Given the description of an element on the screen output the (x, y) to click on. 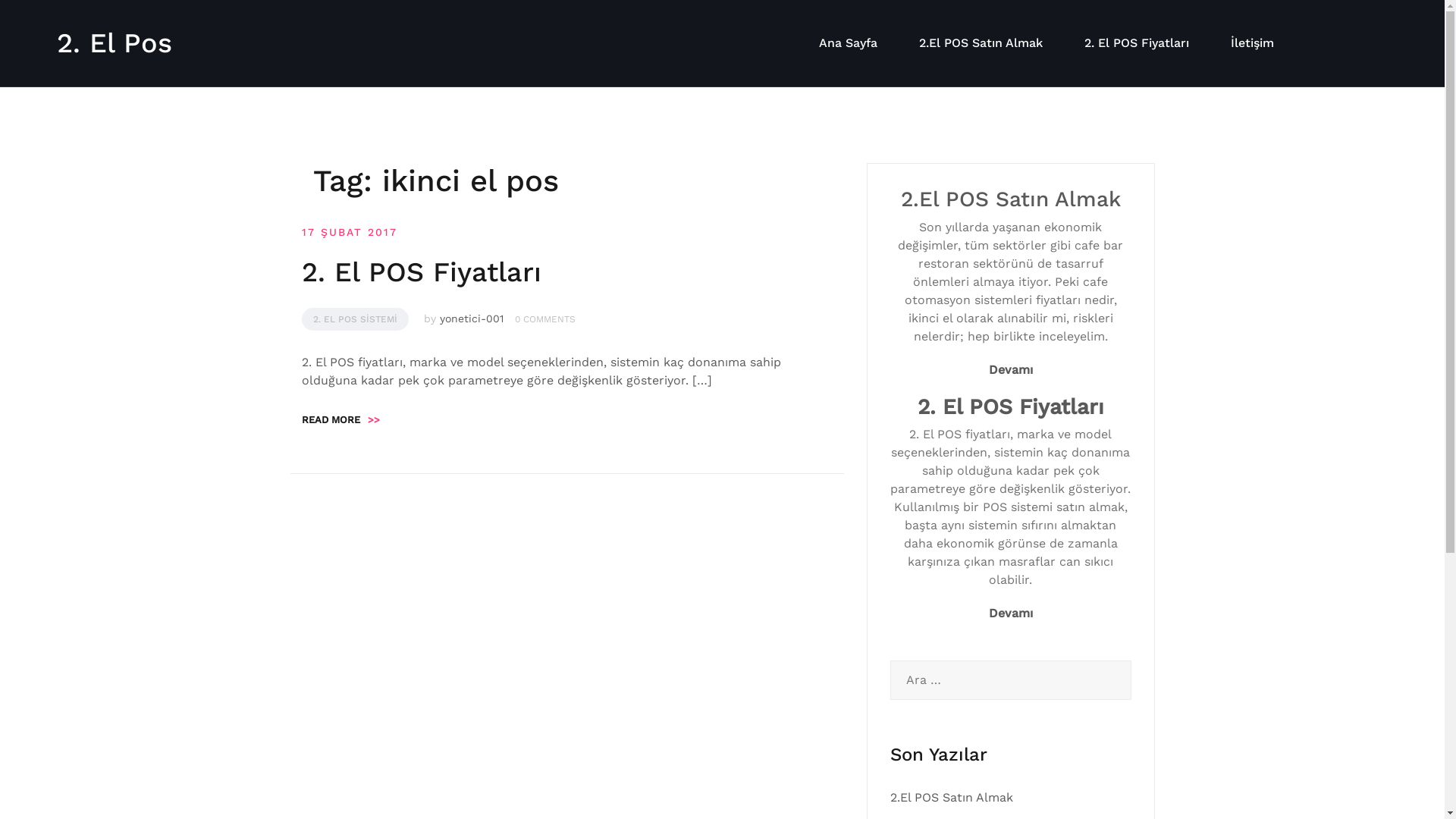
Ana Sayfa Element type: text (848, 43)
2. EL POS SISTEMI Element type: text (354, 318)
Ara Element type: text (35, 19)
2. El Pos Element type: text (114, 43)
yonetici-001 Element type: text (471, 318)
READ MORE>> Element type: text (340, 419)
